Given the description of an element on the screen output the (x, y) to click on. 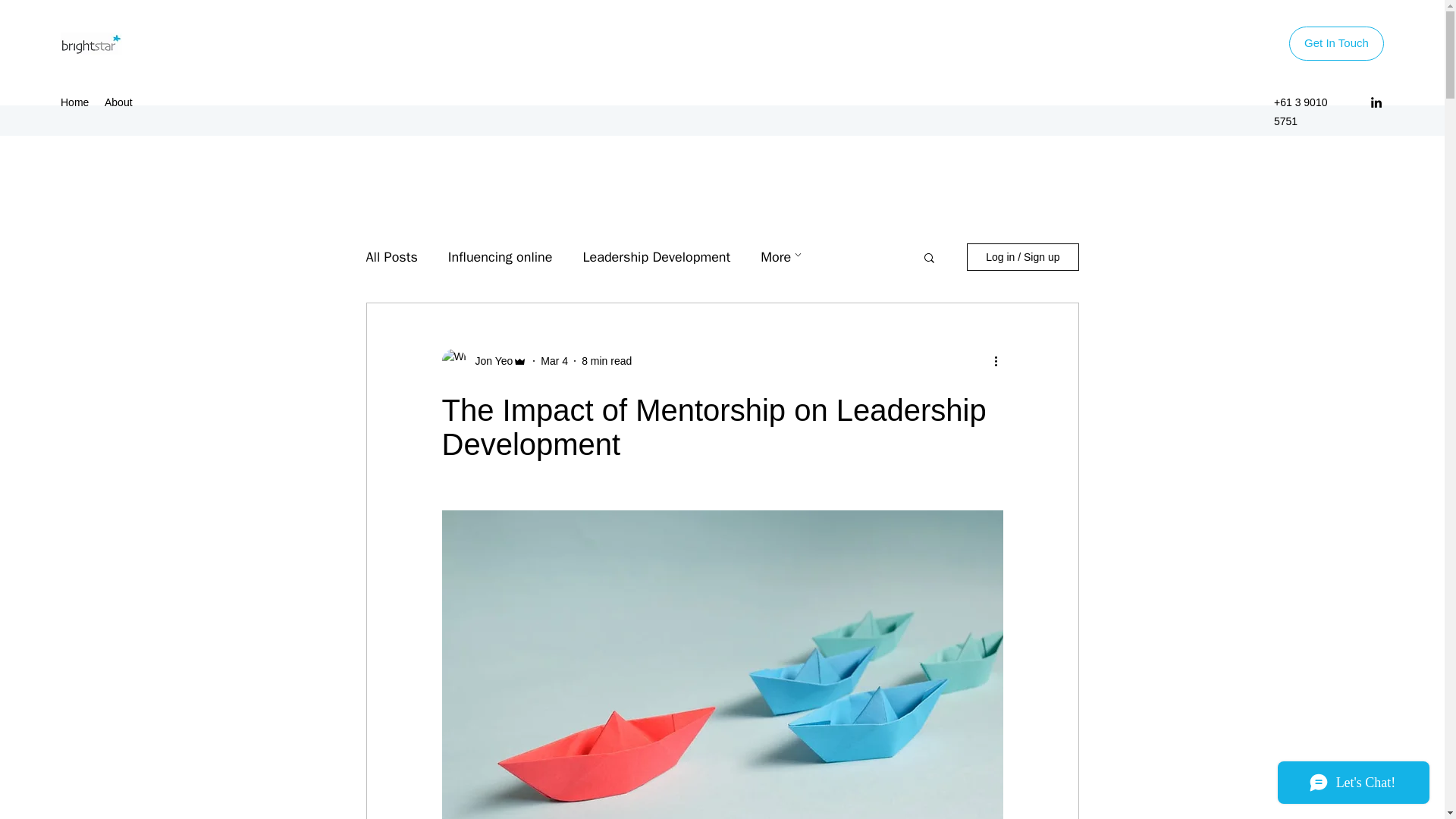
Influencing online (500, 257)
8 min read (605, 360)
Mar 4 (553, 360)
Leadership Development (656, 257)
About (119, 101)
All Posts (390, 257)
Home (74, 101)
Get In Touch (1336, 43)
Jon Yeo (488, 360)
